Given the description of an element on the screen output the (x, y) to click on. 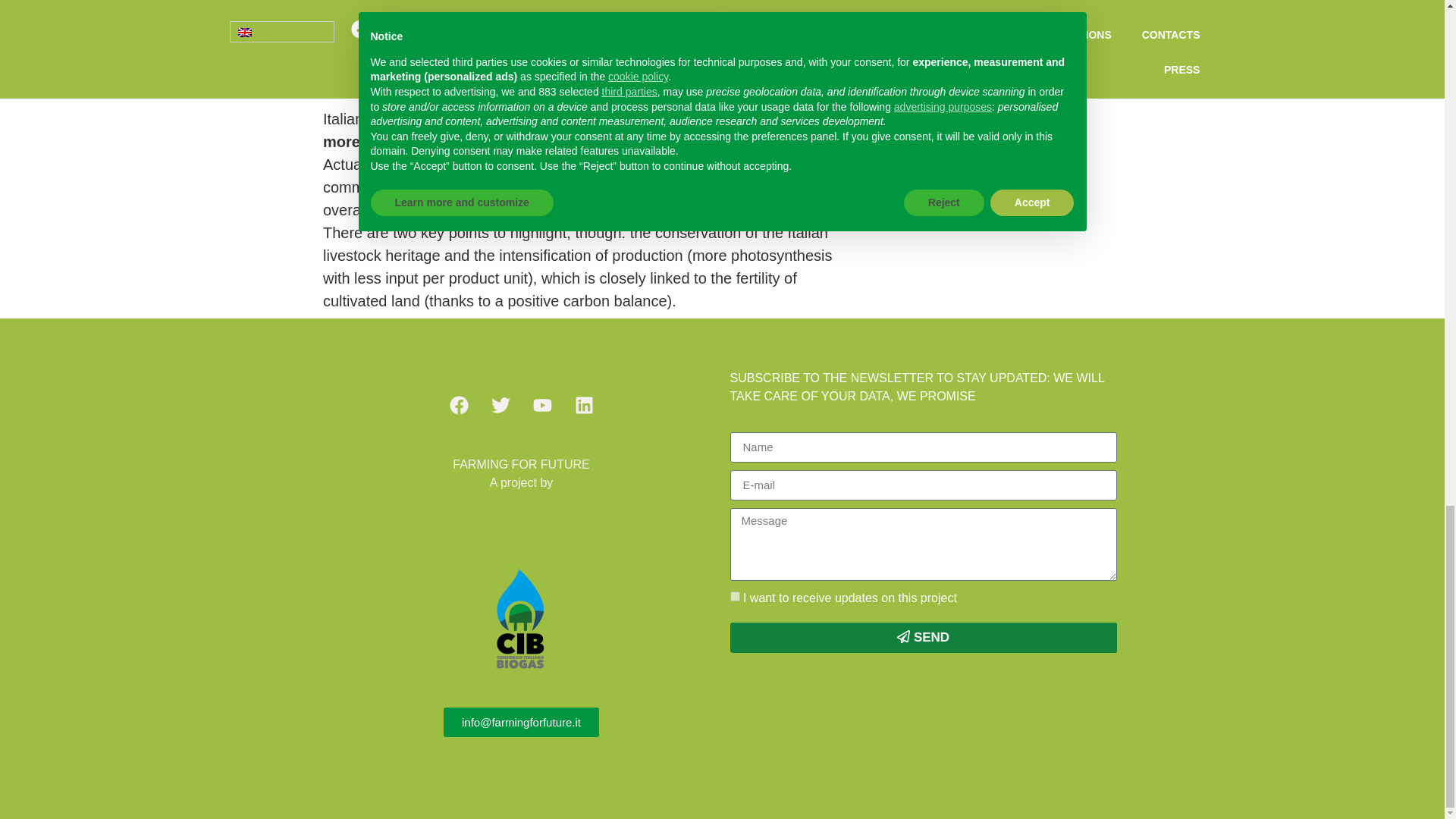
I want to receive updates on this project (734, 596)
Cookie Policy  (426, 793)
Privacy Policy  (427, 760)
